Given the description of an element on the screen output the (x, y) to click on. 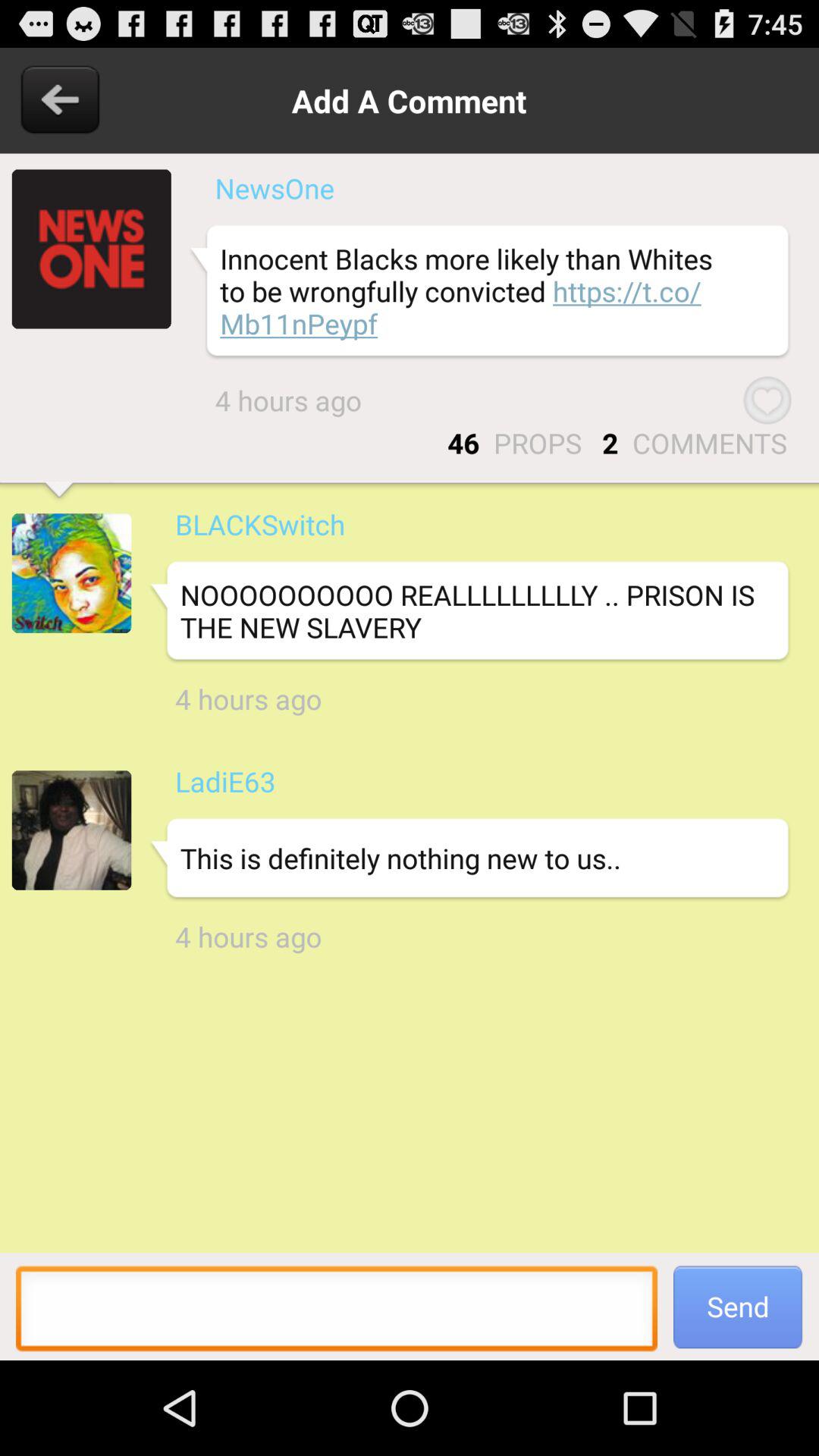
send the message (336, 1312)
